Given the description of an element on the screen output the (x, y) to click on. 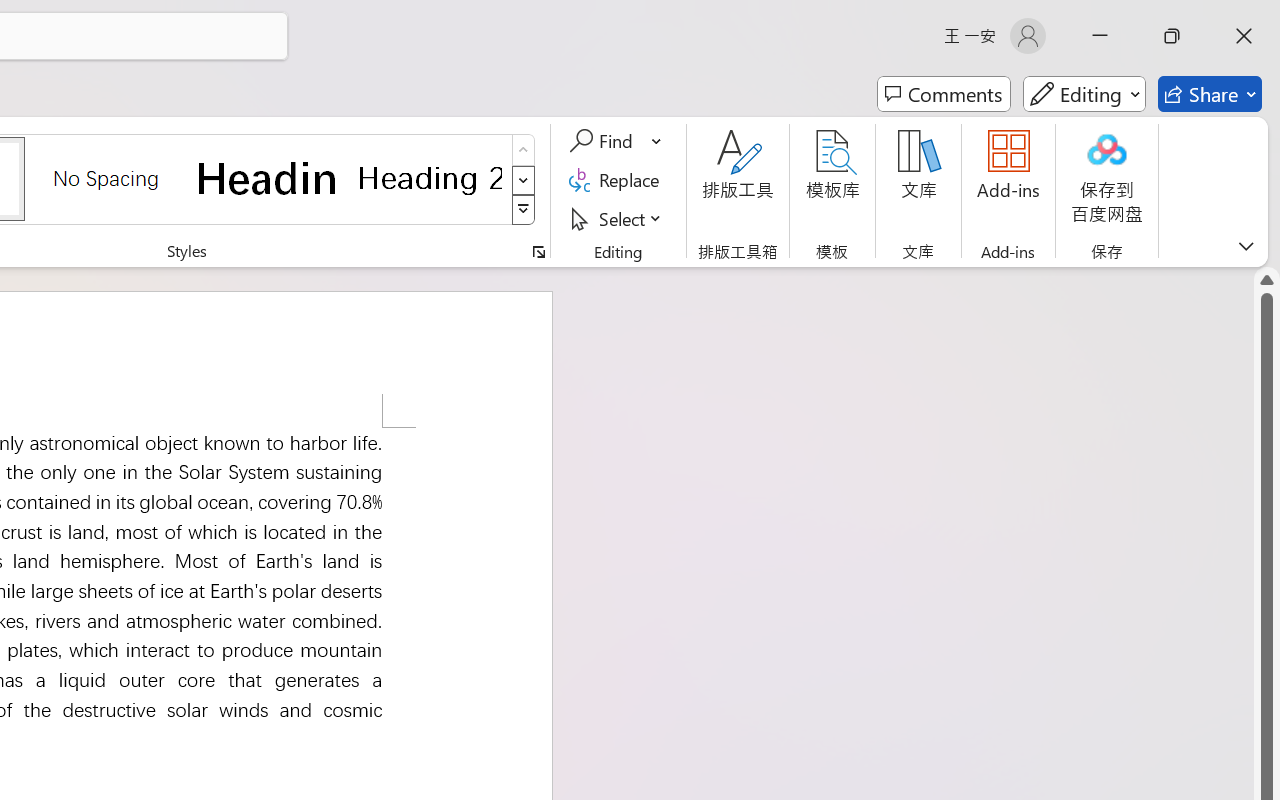
Styles... (538, 252)
Line up (1267, 279)
Select (618, 218)
